Given the description of an element on the screen output the (x, y) to click on. 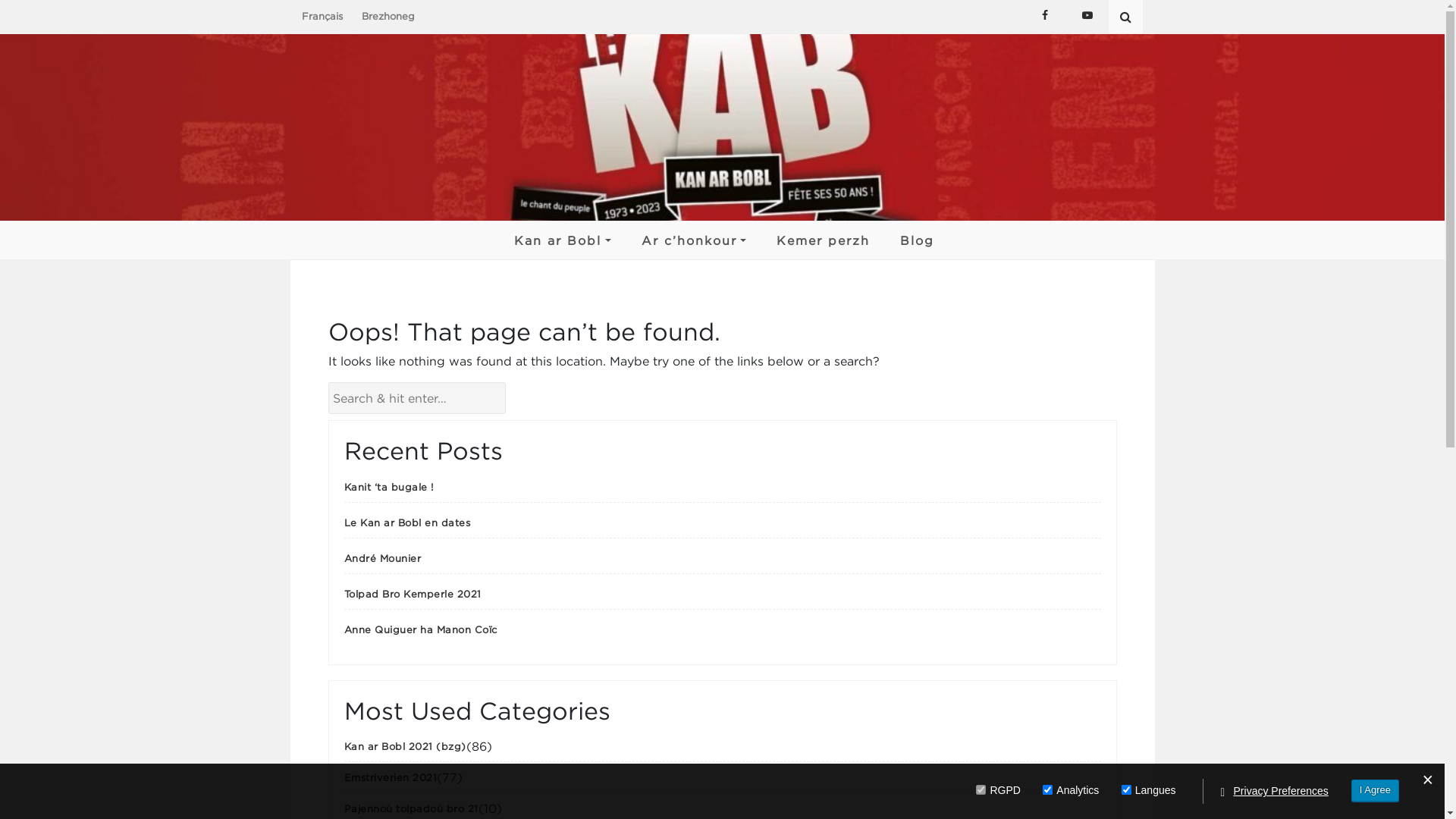
Kan ar Bobl 2021 (bzg) Element type: text (405, 746)
Brezhoneg Element type: text (387, 15)
Tolpad Bro Leon 2021 Element type: text (891, 493)
Dibun KAB Element type: text (724, 273)
Tolpad Bro Gwened 2021 Element type: text (891, 426)
Kan ar Bobl Element type: text (562, 240)
Tolpad Bro Pourlet 2021 Element type: text (891, 617)
Emstriverien 2021 Element type: text (390, 777)
Tolpad Bro St-Brieg 2021 Element type: text (891, 660)
Privacy Preferences Element type: text (1281, 791)
Tolpad Bro Kemperle 2021 Element type: text (412, 593)
Tolpad Bro Kemperle 2021 Element type: text (891, 703)
Le Kan ar Bobl en dates Element type: text (407, 522)
Tolpad Bro Naoned 2021 Element type: text (891, 573)
Tolpad Bro Menez Are 2021 Element type: text (891, 383)
Tolpad KAB 2021 #48 Element type: text (724, 303)
Aozadur Element type: text (597, 303)
Kemer perzh Element type: text (822, 240)
Blog Element type: text (917, 240)
Ar gevredigezh Element type: text (597, 273)
I Agree Element type: text (1375, 790)
